Given the description of an element on the screen output the (x, y) to click on. 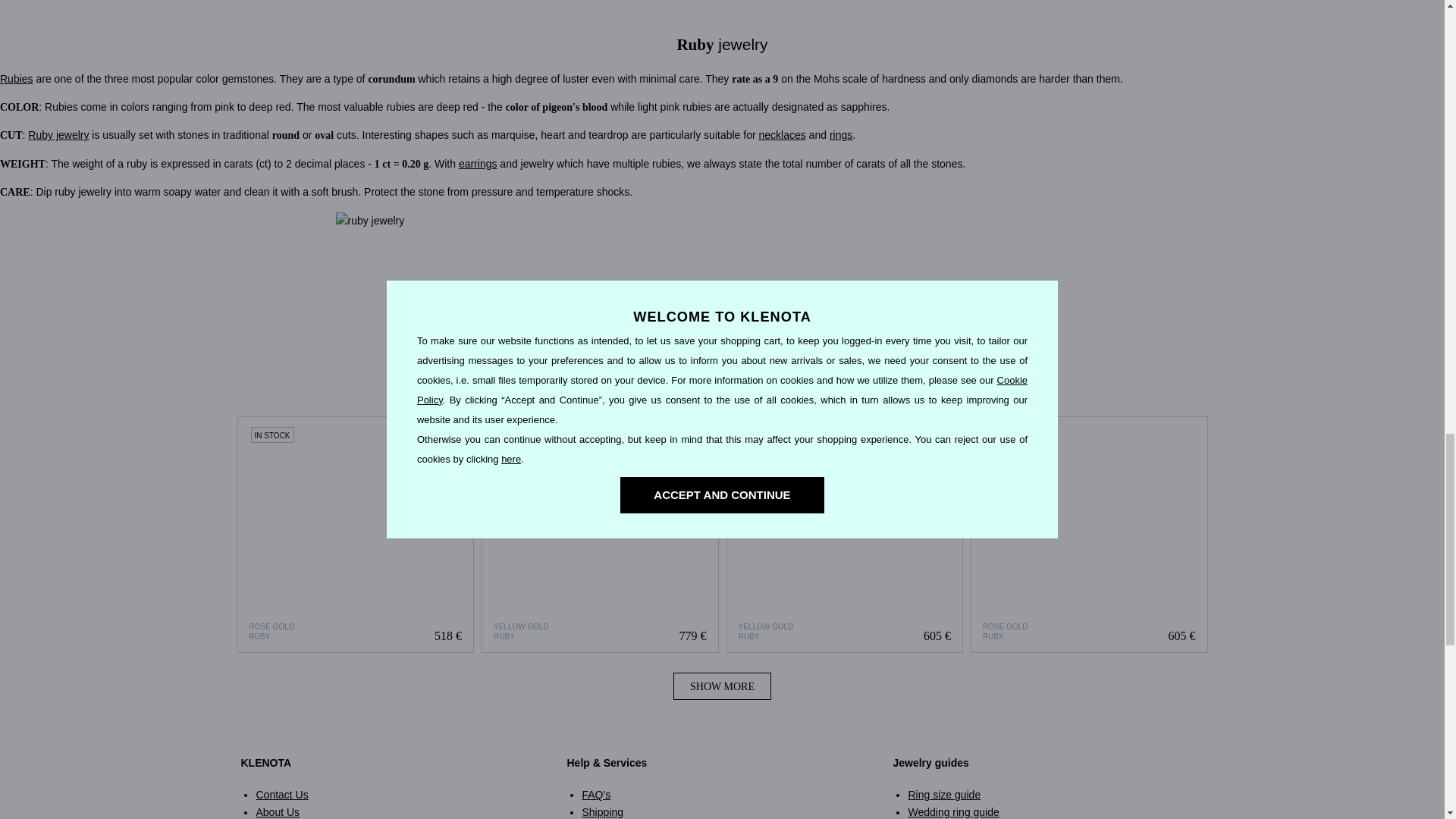
Ruby ring in 14k yellow gold (844, 534)
Ruby Ribbon Necklace in Rose Gold (356, 534)
Ruby Ribbon Necklace in Rose Gold (354, 534)
Round Ruby Gold Ribbon Earrings (599, 534)
Ruby Ring in Rose Gold (1089, 534)
Round Ruby Gold Ribbon Earrings (600, 534)
Ruby Ring in Rose Gold (1089, 534)
Ruby ring in 14k yellow gold (844, 534)
